Given the description of an element on the screen output the (x, y) to click on. 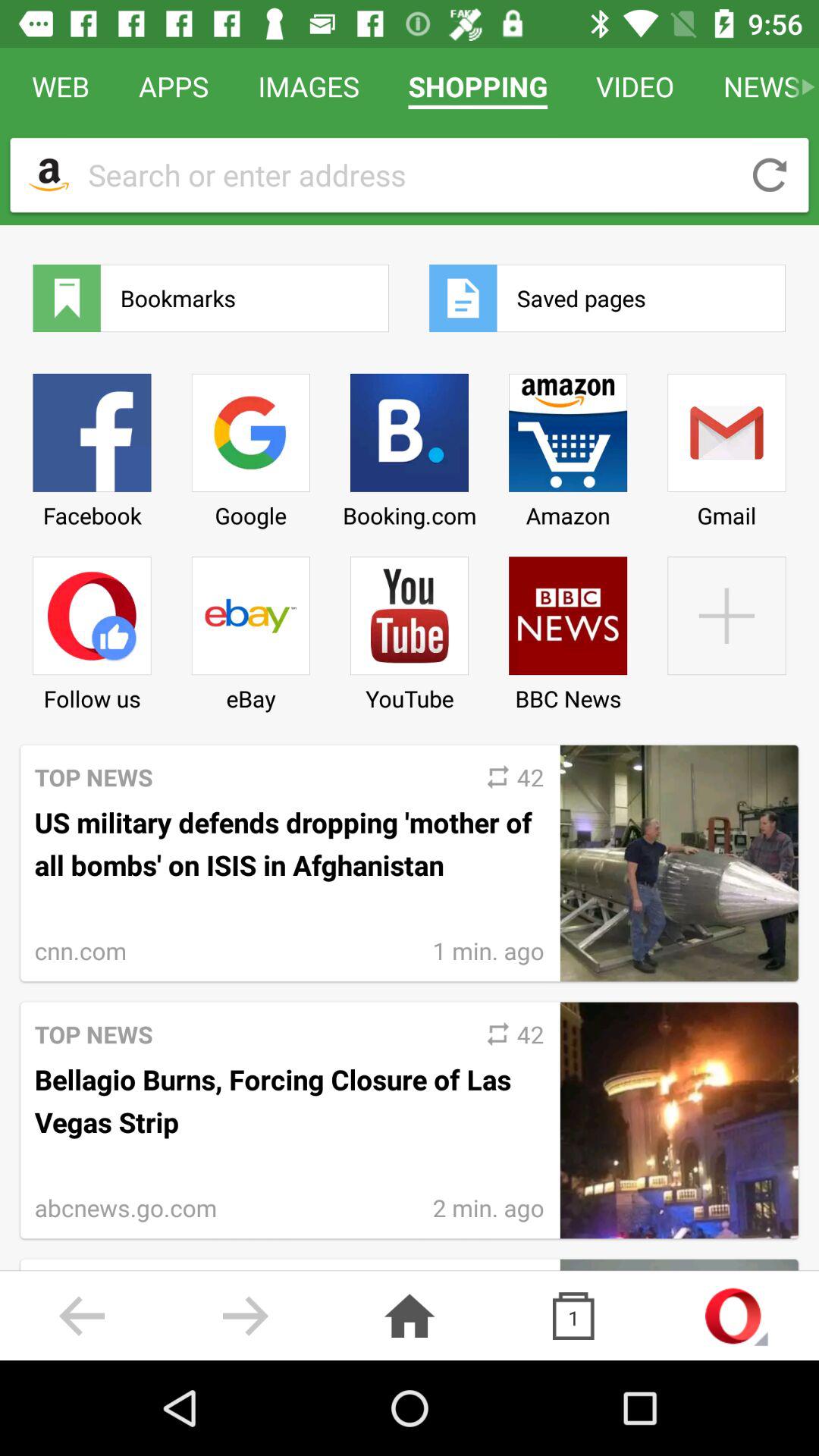
press the item below the saved pages item (726, 444)
